Given the description of an element on the screen output the (x, y) to click on. 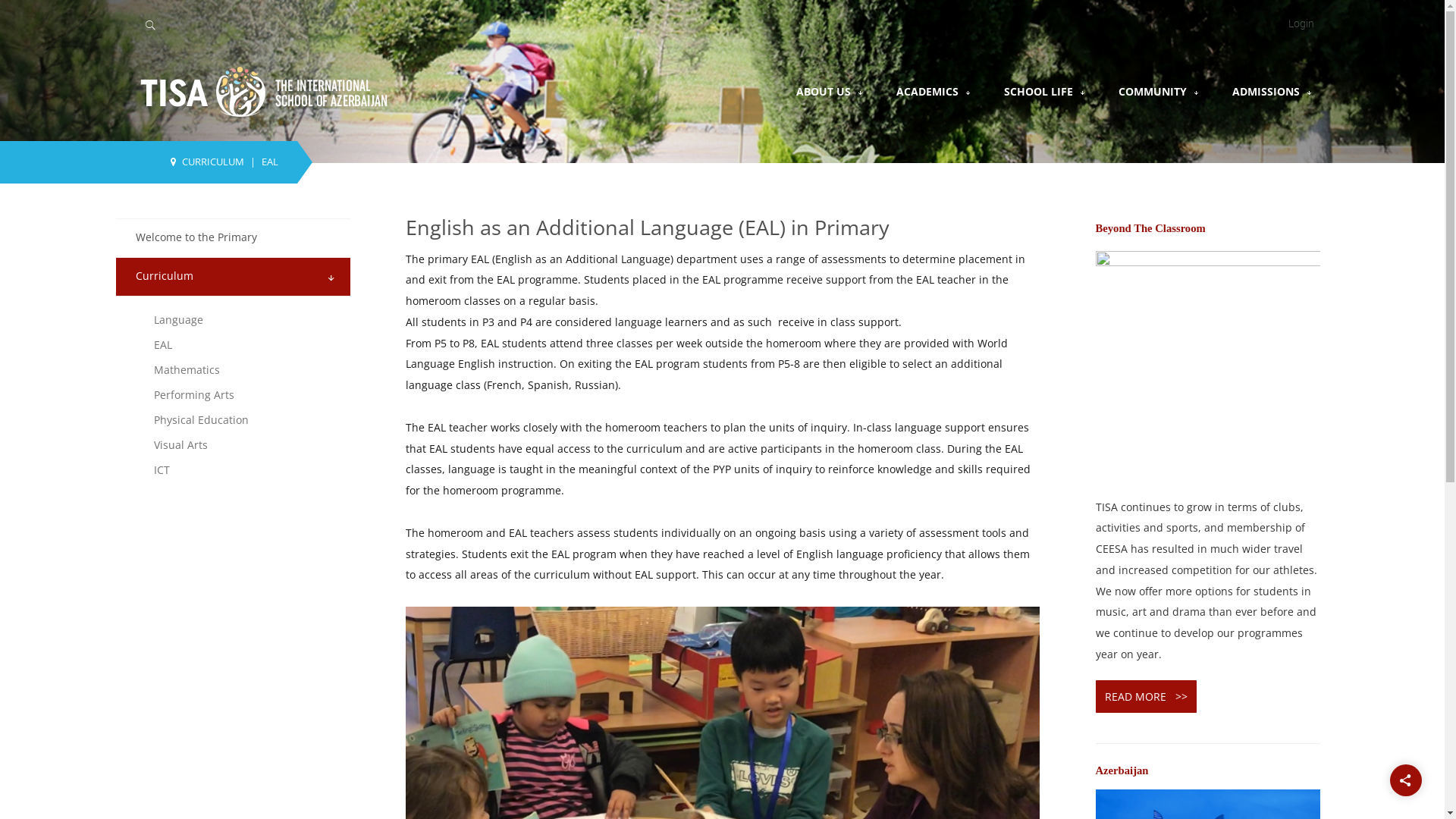
Search Element type: text (442, 23)
ABOUT US Element type: text (830, 91)
Physical Education Element type: text (245, 419)
ACADEMICS Element type: text (927, 91)
Mathematics Element type: text (245, 369)
READ MORE   >> Element type: text (1145, 696)
Performing Arts Element type: text (245, 394)
Curriculum Element type: text (163, 275)
ICT Element type: text (245, 469)
COMMUNITY Element type: text (1158, 91)
Welcome to the Primary Element type: text (195, 236)
CURRICULUM Element type: text (213, 161)
SCHOOL LIFE Element type: text (1038, 91)
ADMISSIONS Element type: text (1271, 91)
ABOUT US Element type: text (823, 91)
ADMISSIONS Element type: text (1265, 91)
COMMUNITY Element type: text (1151, 91)
SCHOOL LIFE Element type: text (1045, 91)
ACADEMICS Element type: text (934, 91)
EAL Element type: text (245, 344)
Language Element type: text (245, 319)
Visual Arts Element type: text (245, 444)
